Given the description of an element on the screen output the (x, y) to click on. 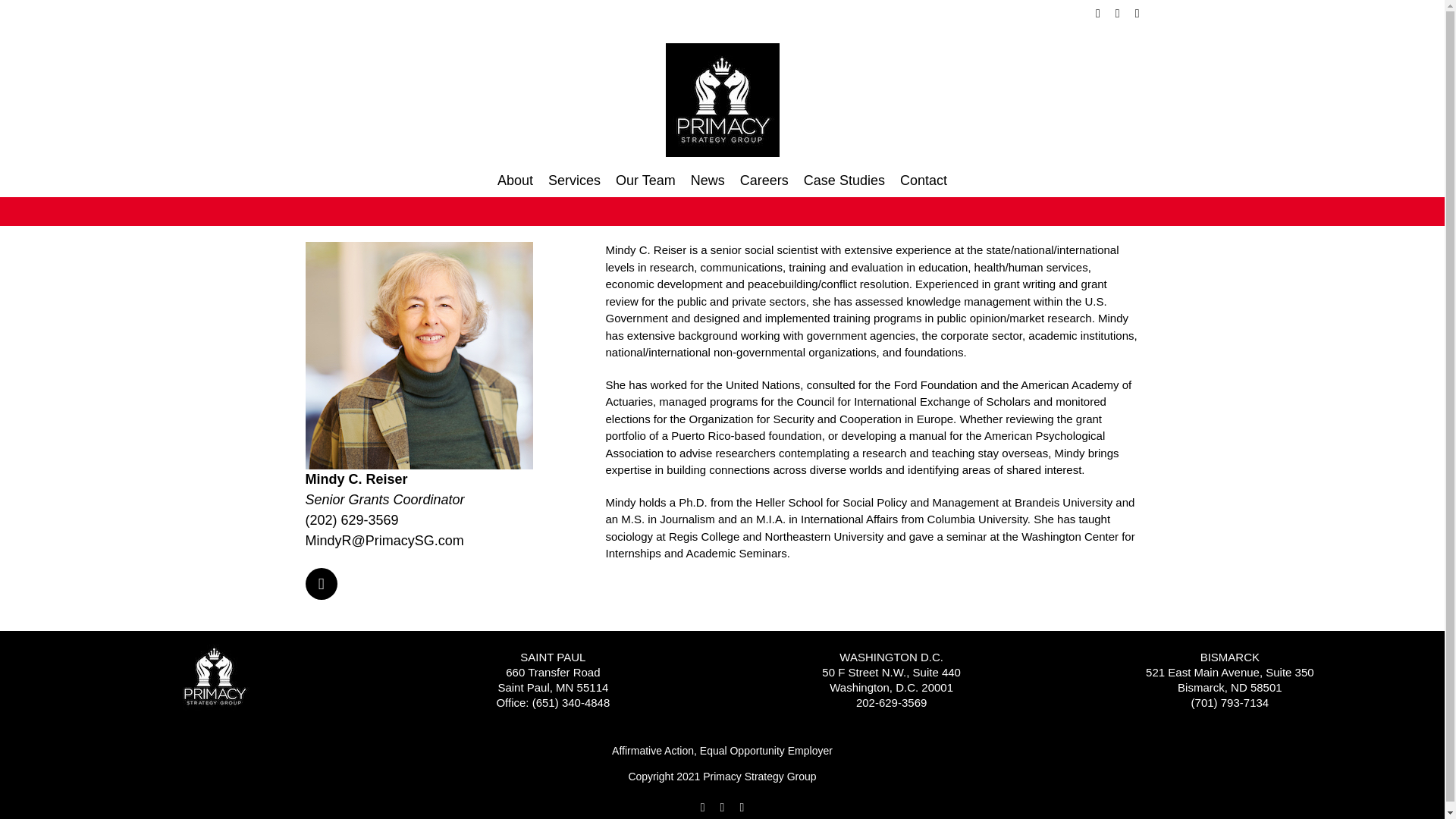
Our Team (645, 180)
Contact (923, 180)
mindy-reiser (418, 355)
Services (573, 180)
Careers (764, 180)
Case Studies (844, 180)
News (707, 180)
About (514, 180)
